Given the description of an element on the screen output the (x, y) to click on. 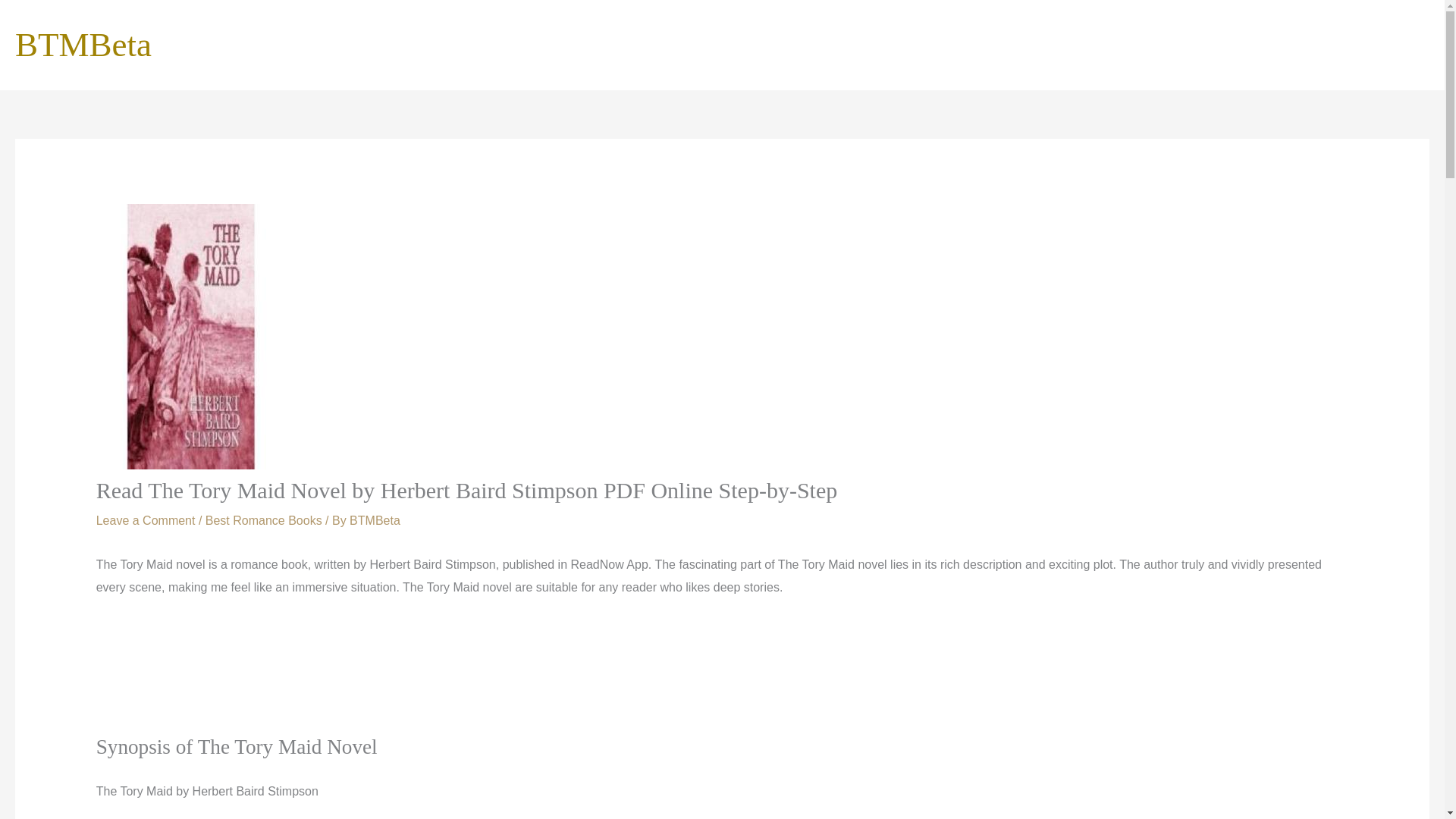
View all posts by BTMBeta (374, 520)
Best Romance Books (263, 520)
BTMBeta (82, 44)
Advertisement (721, 675)
BTMBeta (374, 520)
Leave a Comment (145, 520)
